Given the description of an element on the screen output the (x, y) to click on. 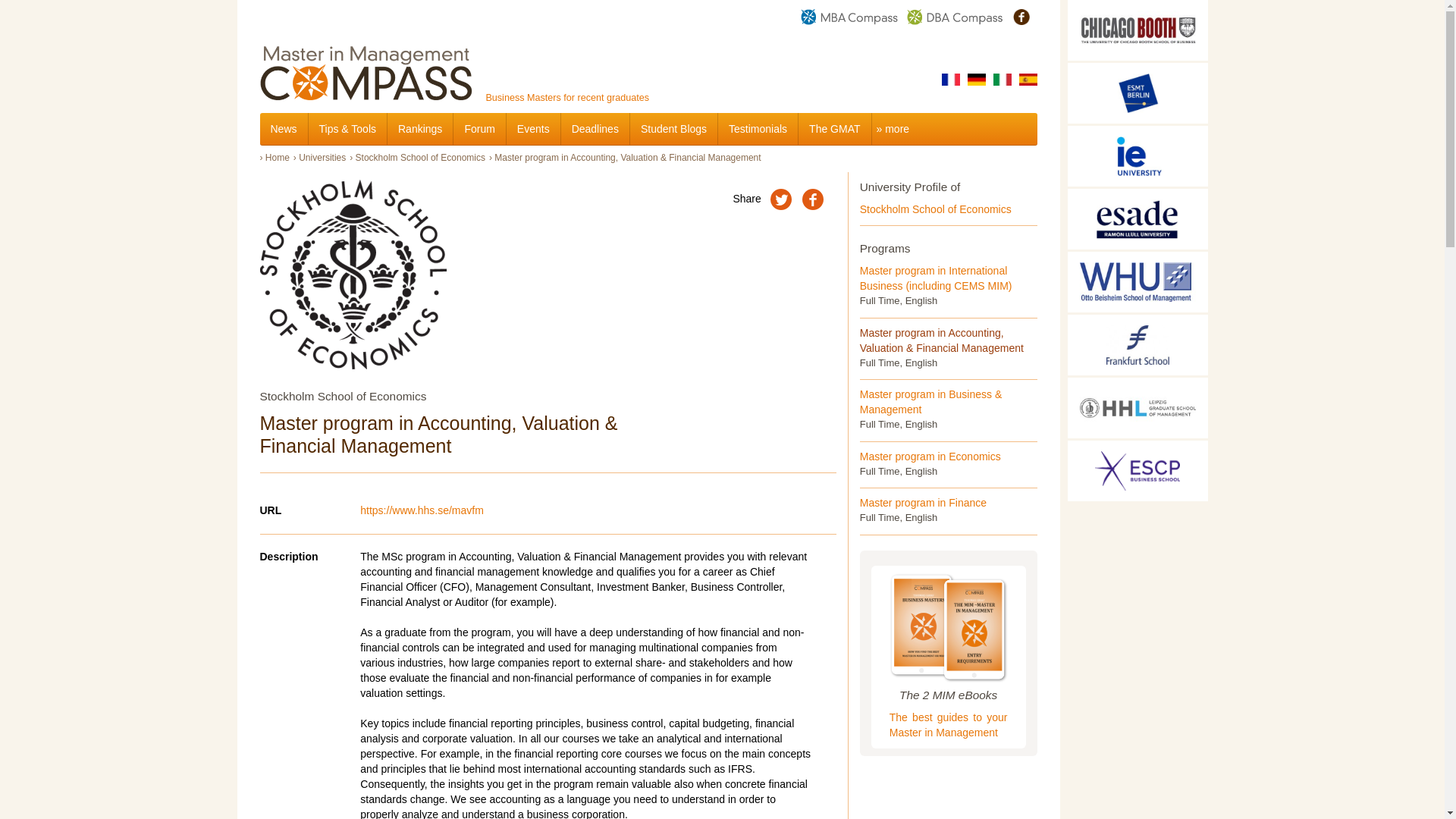
Student Blogs (673, 128)
Business Masters for recent graduates (454, 96)
HHL Leipzig Graduate School of Management, Leipzig, Germany (1137, 407)
News (283, 128)
IE Business School, Madrid, Spain (1137, 156)
Master program in Finance (923, 502)
Events (533, 128)
ESADE Business School, Barcelona, Spain (1137, 219)
MBA Compass (849, 16)
WHU Otto Beisheim School of Management, Vallendar, Germany (1137, 281)
